Given the description of an element on the screen output the (x, y) to click on. 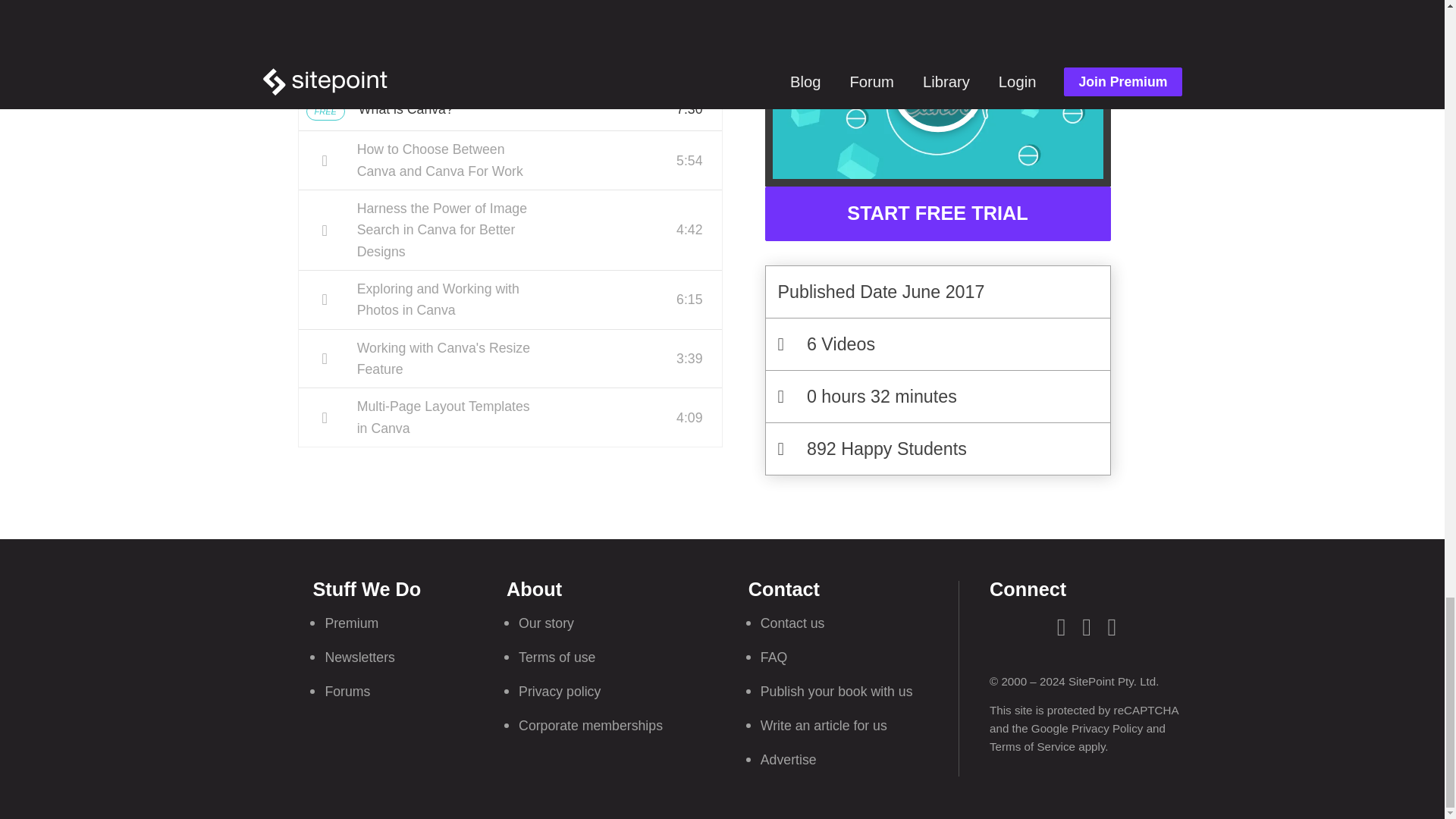
Corporate memberships (590, 725)
Advertise (788, 759)
Contact us (792, 622)
Terms of use (556, 657)
How to Choose Between Canva and Canva For Work (510, 160)
Multi-Page Layout Templates in Canva (510, 417)
Newsletters (359, 657)
Premium (351, 622)
Privacy policy (558, 691)
